Given the description of an element on the screen output the (x, y) to click on. 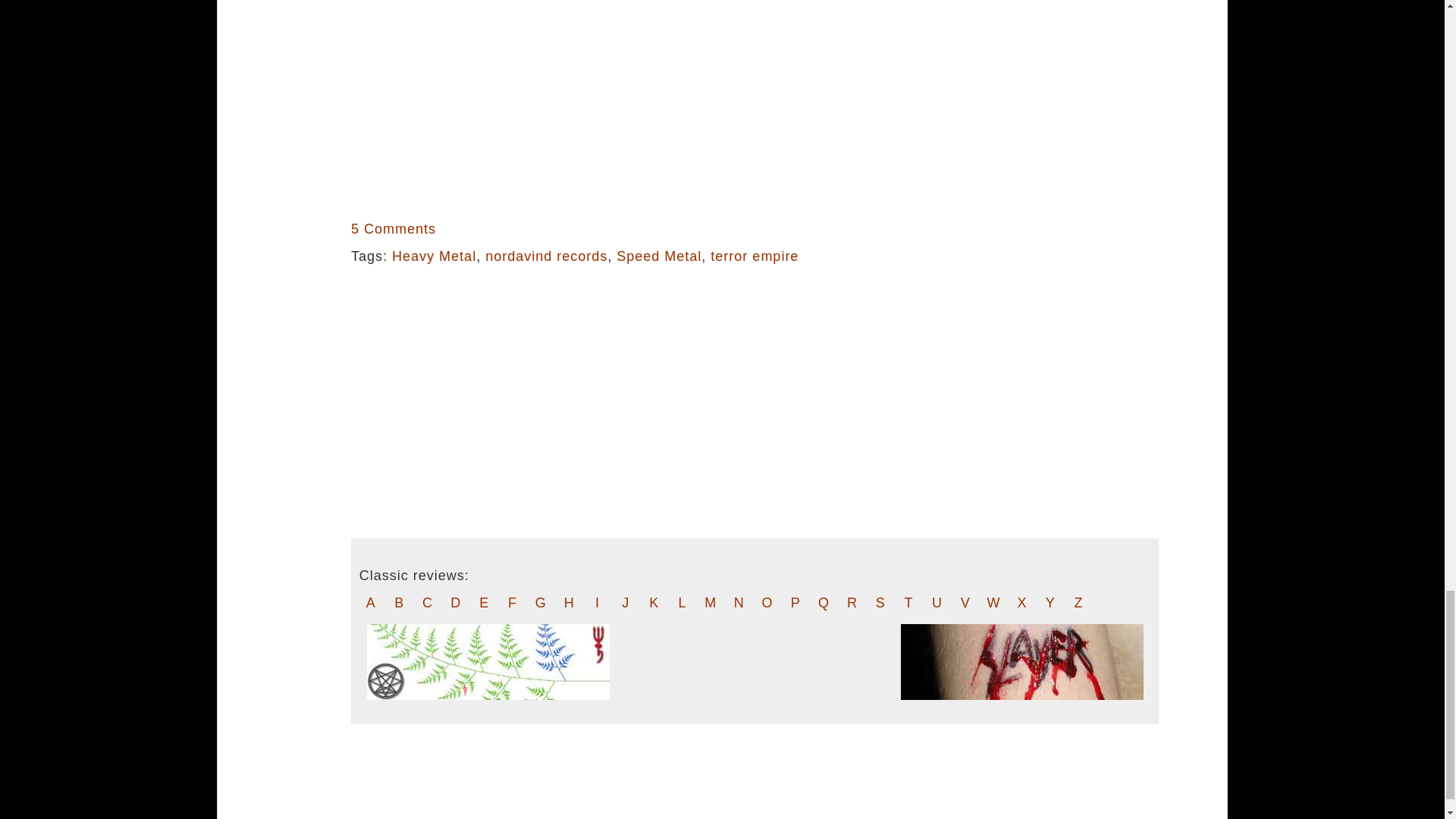
nordavind records (545, 255)
Speed Metal (658, 255)
terror empire (753, 255)
Heavy Metal (433, 255)
5 Comments (392, 228)
